Given the description of an element on the screen output the (x, y) to click on. 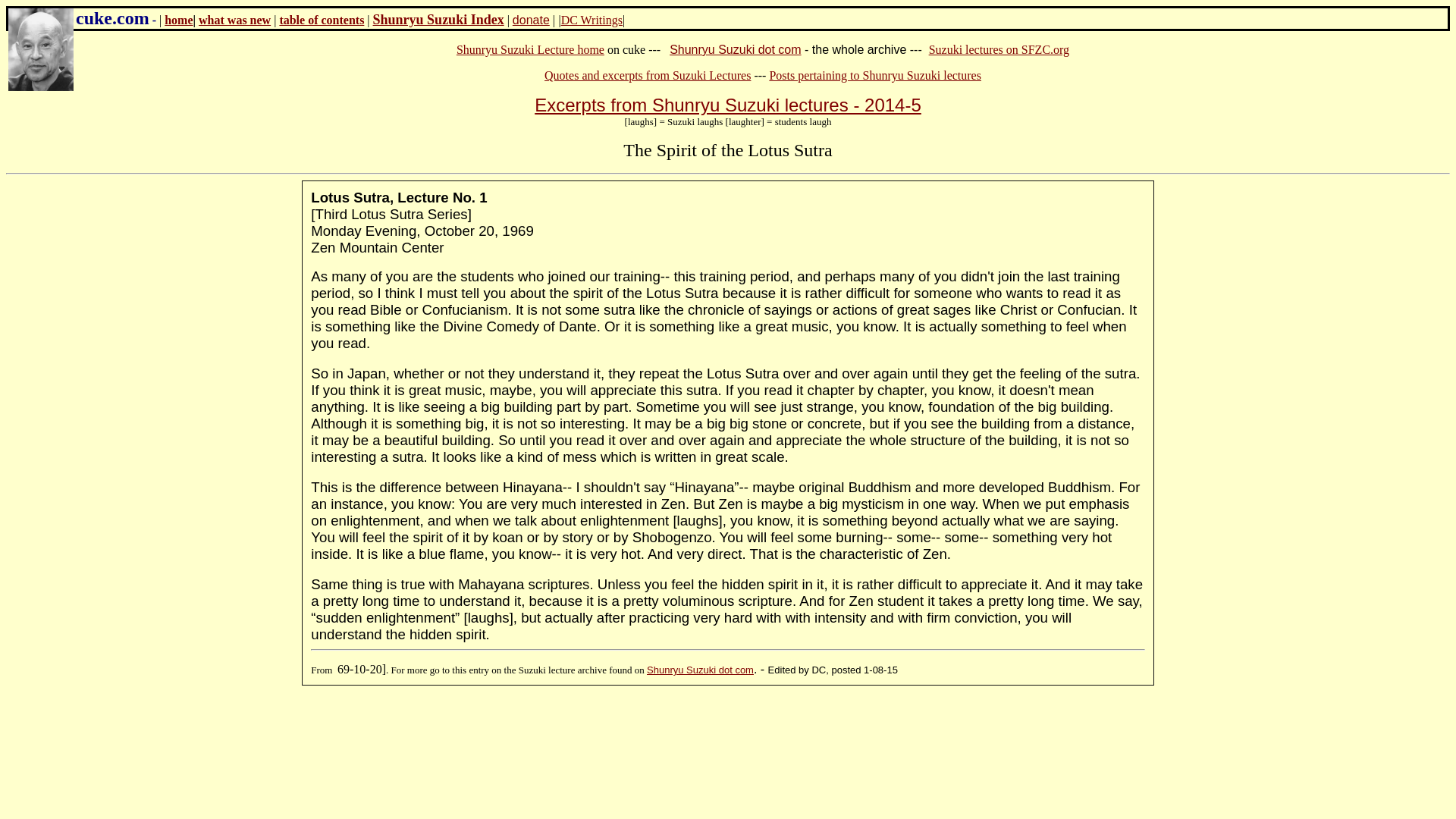
what was new (234, 19)
DC Writings (591, 19)
Shunryu Suzuki dot com (734, 49)
Shunryu Suzuki dot com (700, 669)
Shunryu Suzuki Lecture home (530, 49)
Suzuki lectures on SFZC.org (998, 49)
Quotes and excerpts from Suzuki Lectures (647, 74)
home (178, 19)
Excerpts from Shunryu Suzuki lectures - 2014-5 (727, 105)
Shunryu Suzuki Index (437, 19)
